Given the description of an element on the screen output the (x, y) to click on. 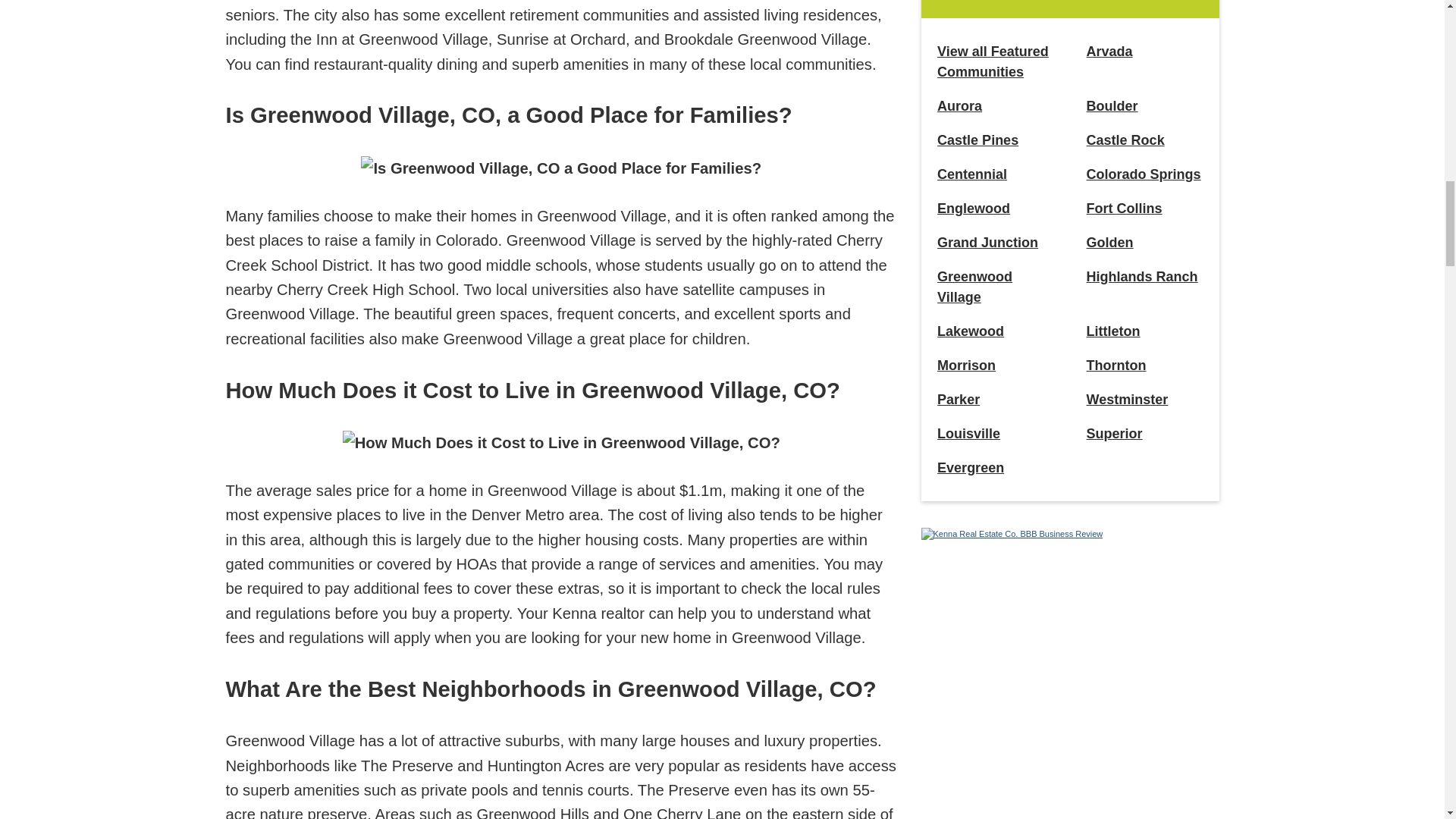
Is Greenwood Village, CO a Good Place for Families? (561, 168)
How Much Does it Cost to Live in Greenwood Village, CO? (561, 442)
